Given the description of an element on the screen output the (x, y) to click on. 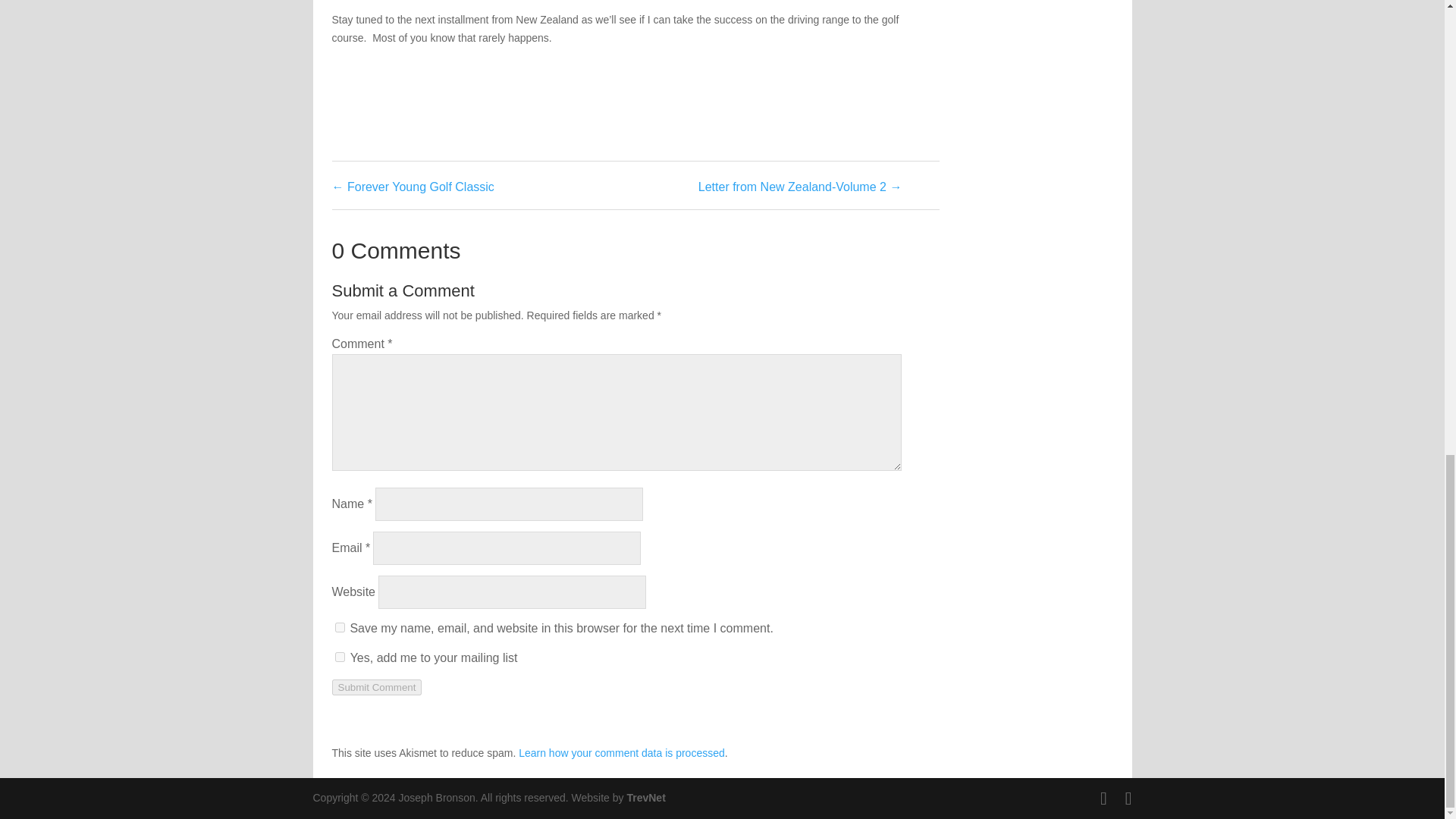
Submit Comment (376, 687)
yes (339, 627)
Learn how your comment data is processed (621, 752)
TrevNet (645, 797)
1 (339, 656)
